Given the description of an element on the screen output the (x, y) to click on. 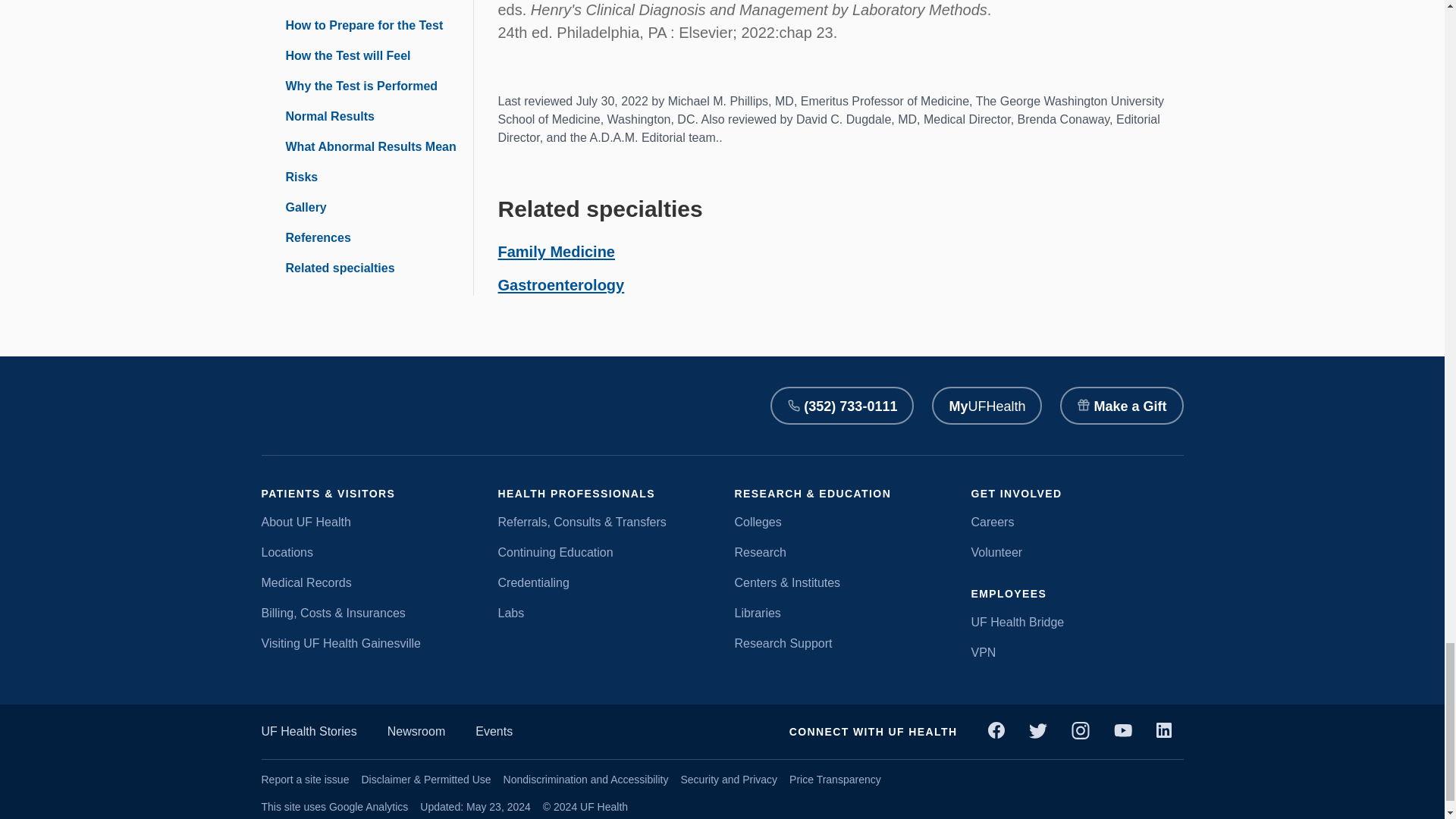
MyUFHealth (986, 405)
Family Medicine (555, 251)
University of Florida (452, 405)
Gastroenterology (560, 284)
About UF Health (366, 522)
Make a Gift (1120, 405)
University of Florida Health (310, 406)
